Given the description of an element on the screen output the (x, y) to click on. 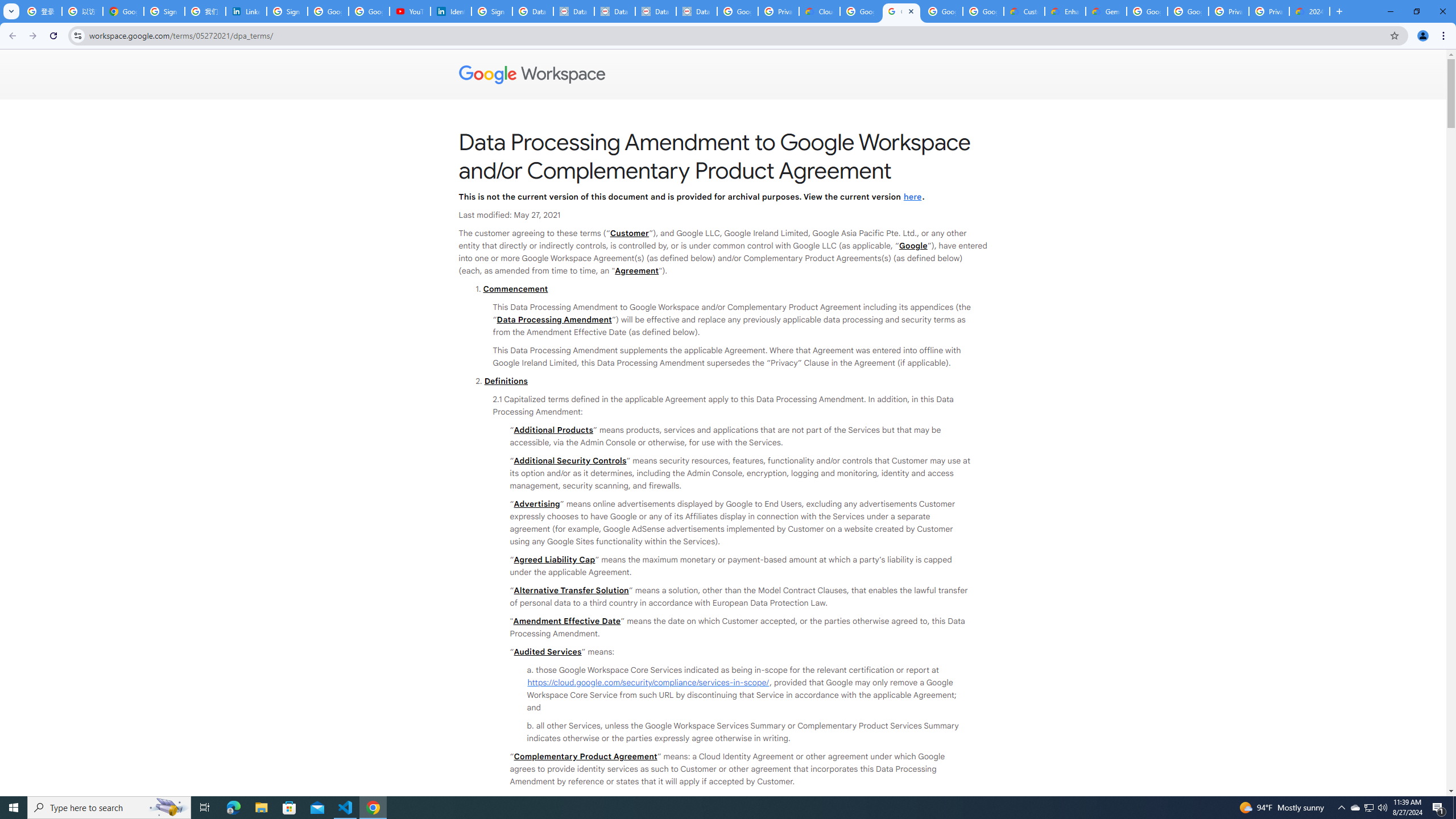
Data Privacy Framework (573, 11)
Gemini for Business and Developers | Google Cloud (1105, 11)
here (912, 196)
Google Workspace - Specific Terms (983, 11)
Data Privacy Framework (696, 11)
